Given the description of an element on the screen output the (x, y) to click on. 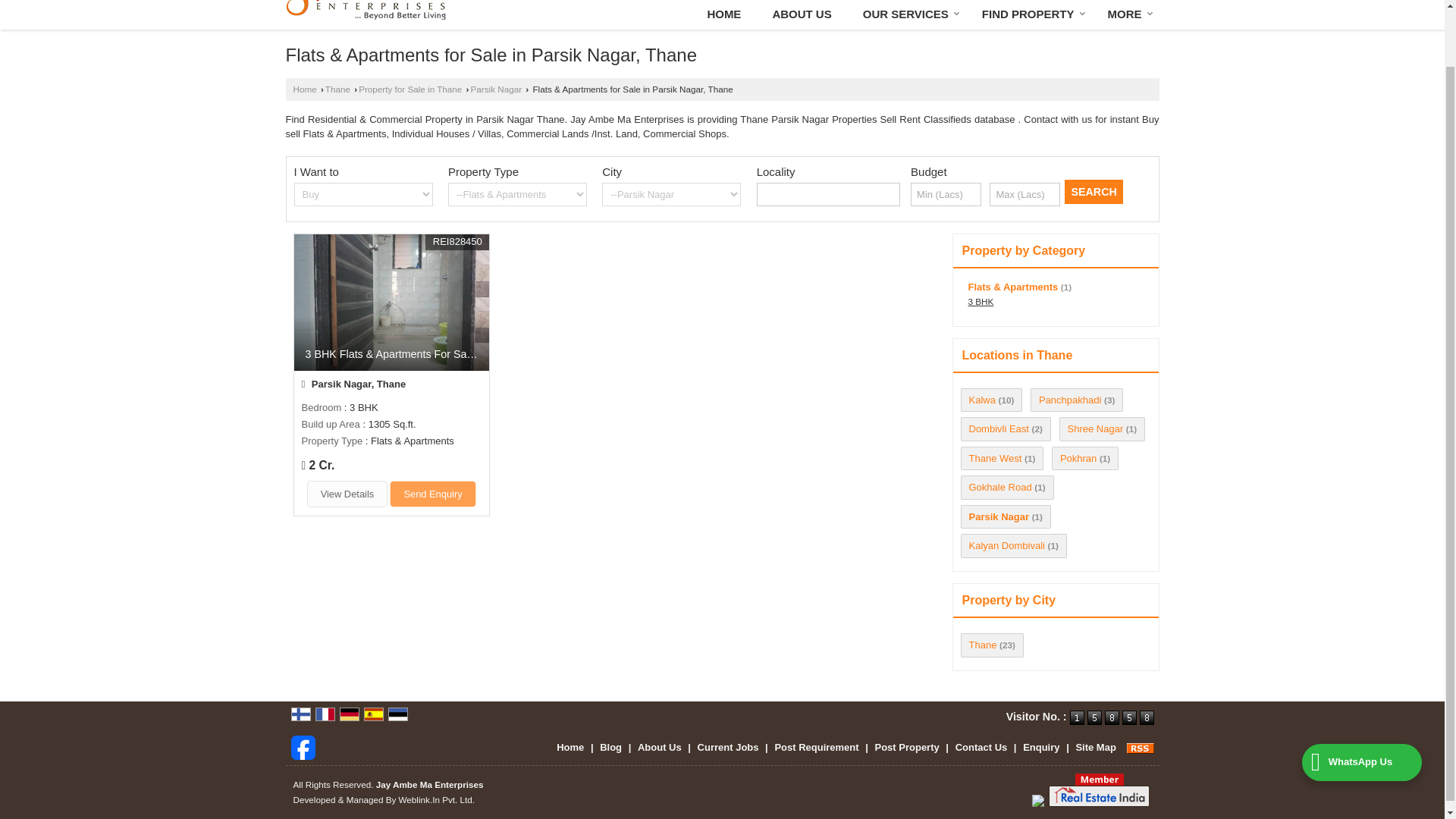
OUR SERVICES (906, 14)
FIND PROPERTY (1029, 14)
ABOUT US (801, 14)
SEARCH (1093, 191)
Our Services (906, 14)
HOME (723, 14)
Home (723, 14)
Jay Ambe Ma Enterprises (365, 9)
Find Property (1029, 14)
About Us (801, 14)
